Given the description of an element on the screen output the (x, y) to click on. 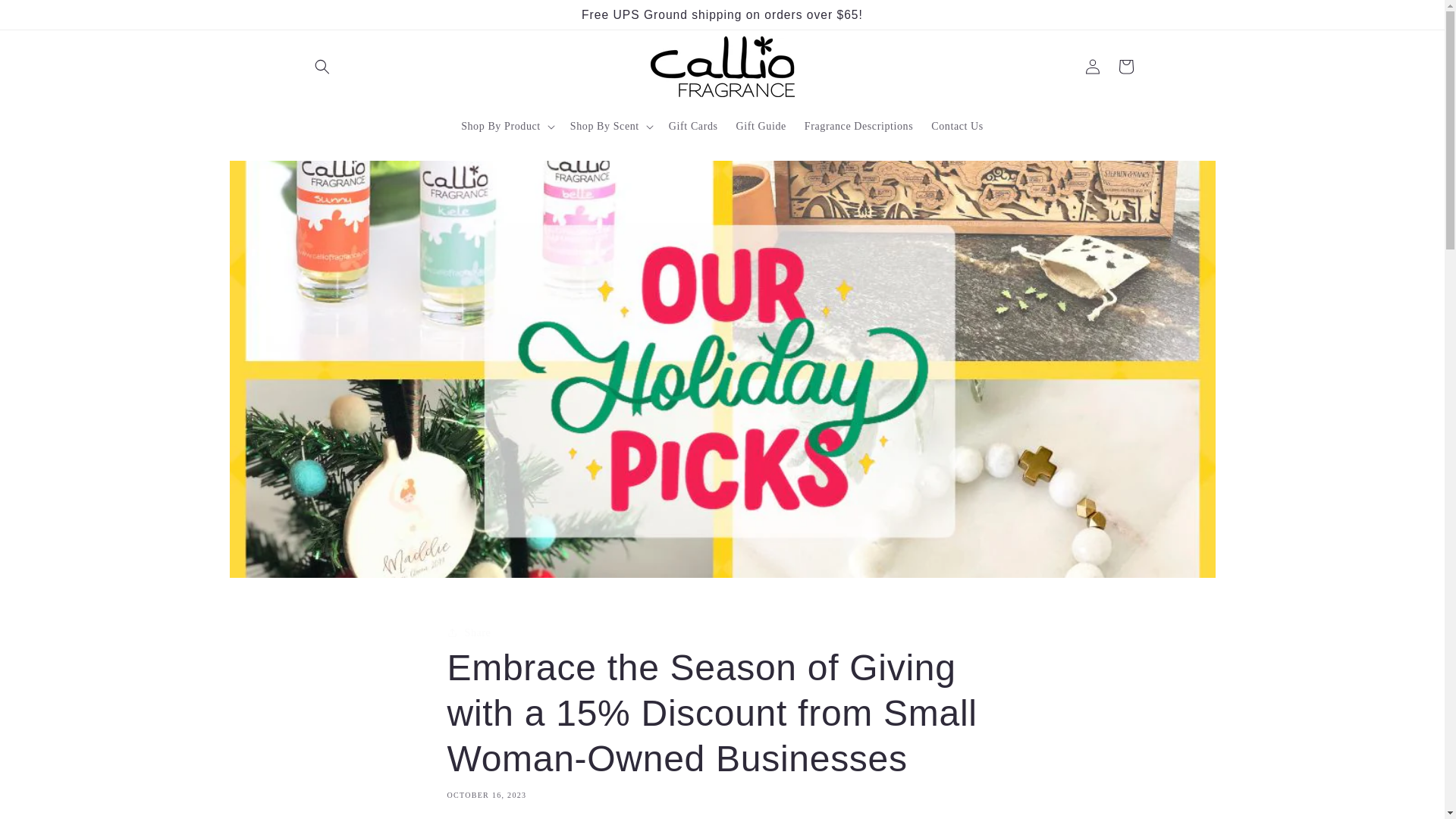
Fragrance Descriptions (857, 126)
Contact Us (956, 126)
Gift Cards (692, 126)
Skip to content (45, 17)
Gift Guide (760, 126)
Share (721, 632)
